Given the description of an element on the screen output the (x, y) to click on. 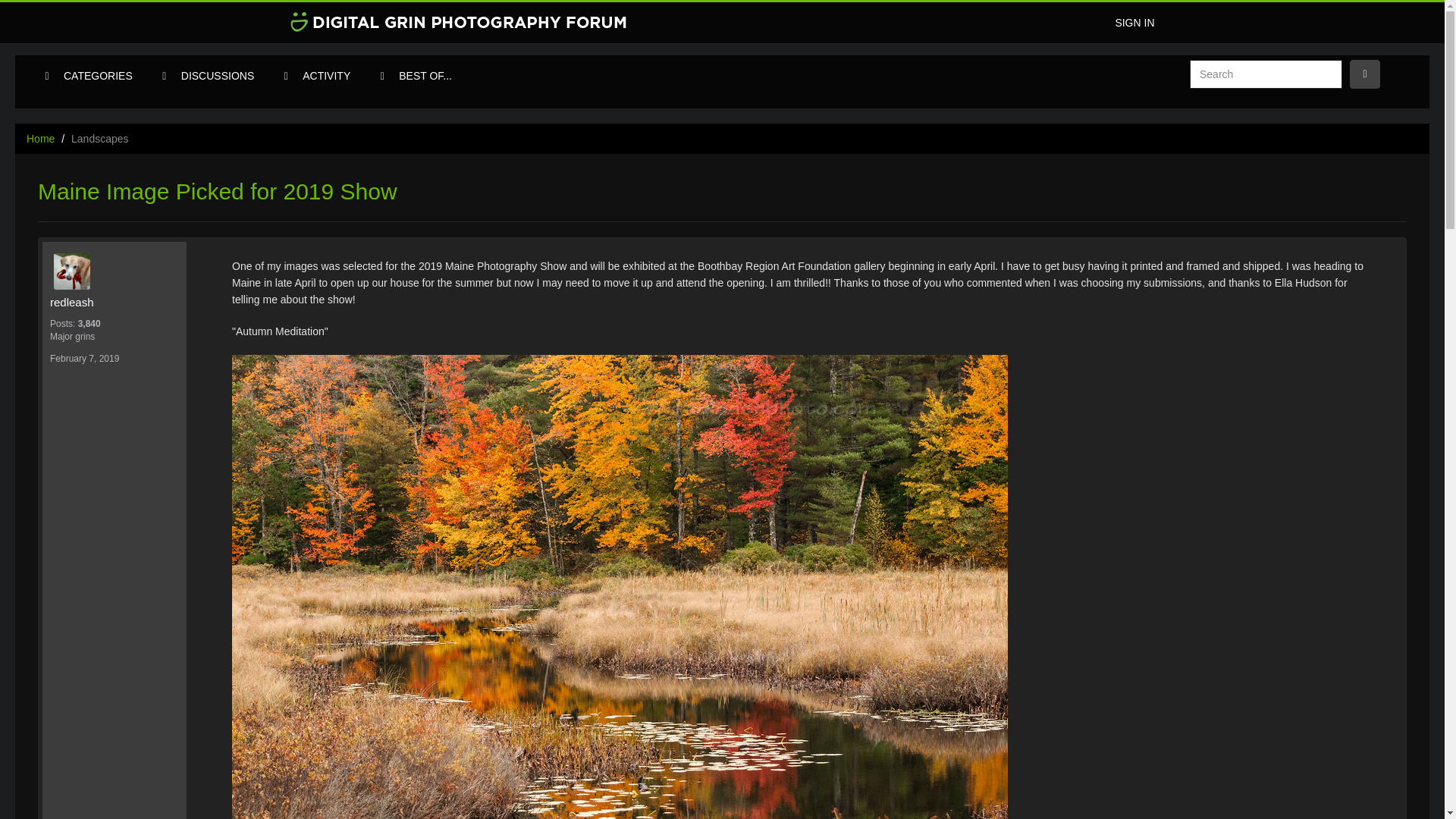
CATEGORIES (98, 75)
SIGN IN (1134, 22)
February 7, 2019 1:53AM (84, 357)
redleash (118, 271)
Landscapes (100, 138)
February 7, 2019 (84, 357)
DISCUSSIONS (217, 75)
ACTIVITY (326, 75)
redleash (114, 302)
BEST OF... (425, 75)
